Given the description of an element on the screen output the (x, y) to click on. 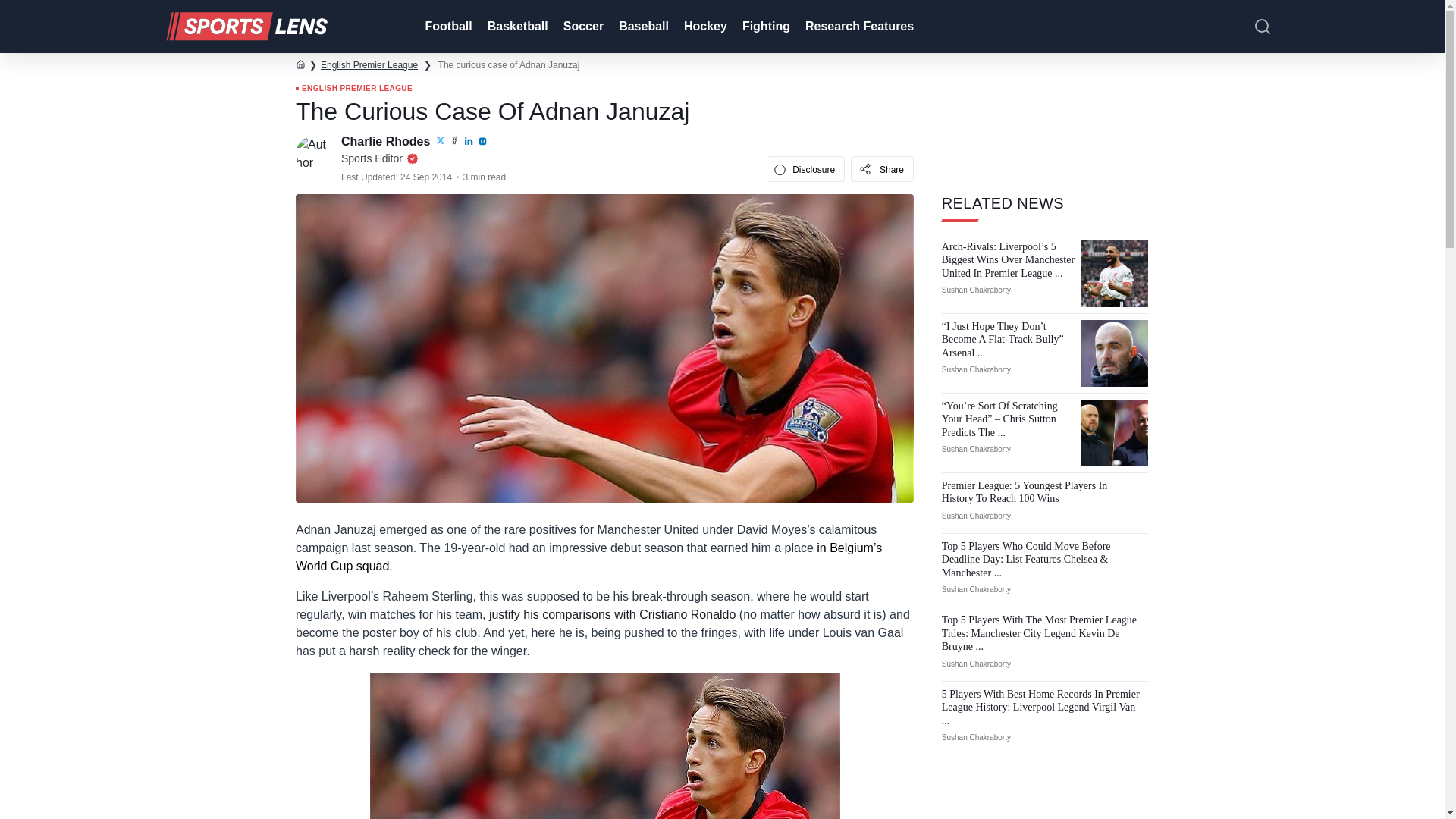
English Premier League (368, 64)
Baseball (642, 26)
Soccer (582, 26)
Share (882, 168)
Basketball (516, 26)
Charlie Rhodes (386, 141)
ENGLISH PREMIER LEAGUE (353, 88)
justify his comparisons with Cristiano Ronaldo (612, 614)
Hockey (704, 26)
Research Features (858, 26)
